Given the description of an element on the screen output the (x, y) to click on. 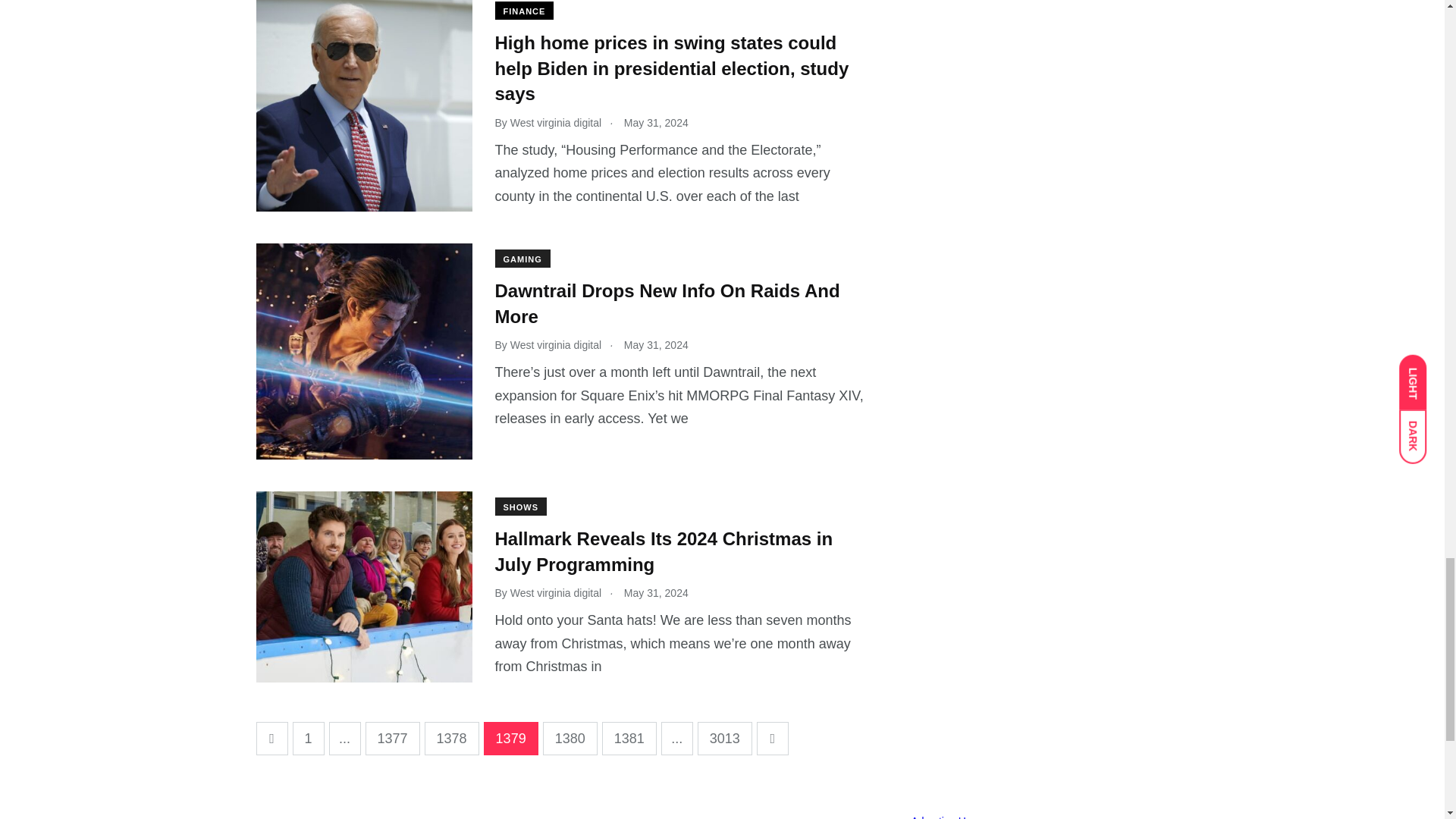
FINANCE (524, 10)
